Given the description of an element on the screen output the (x, y) to click on. 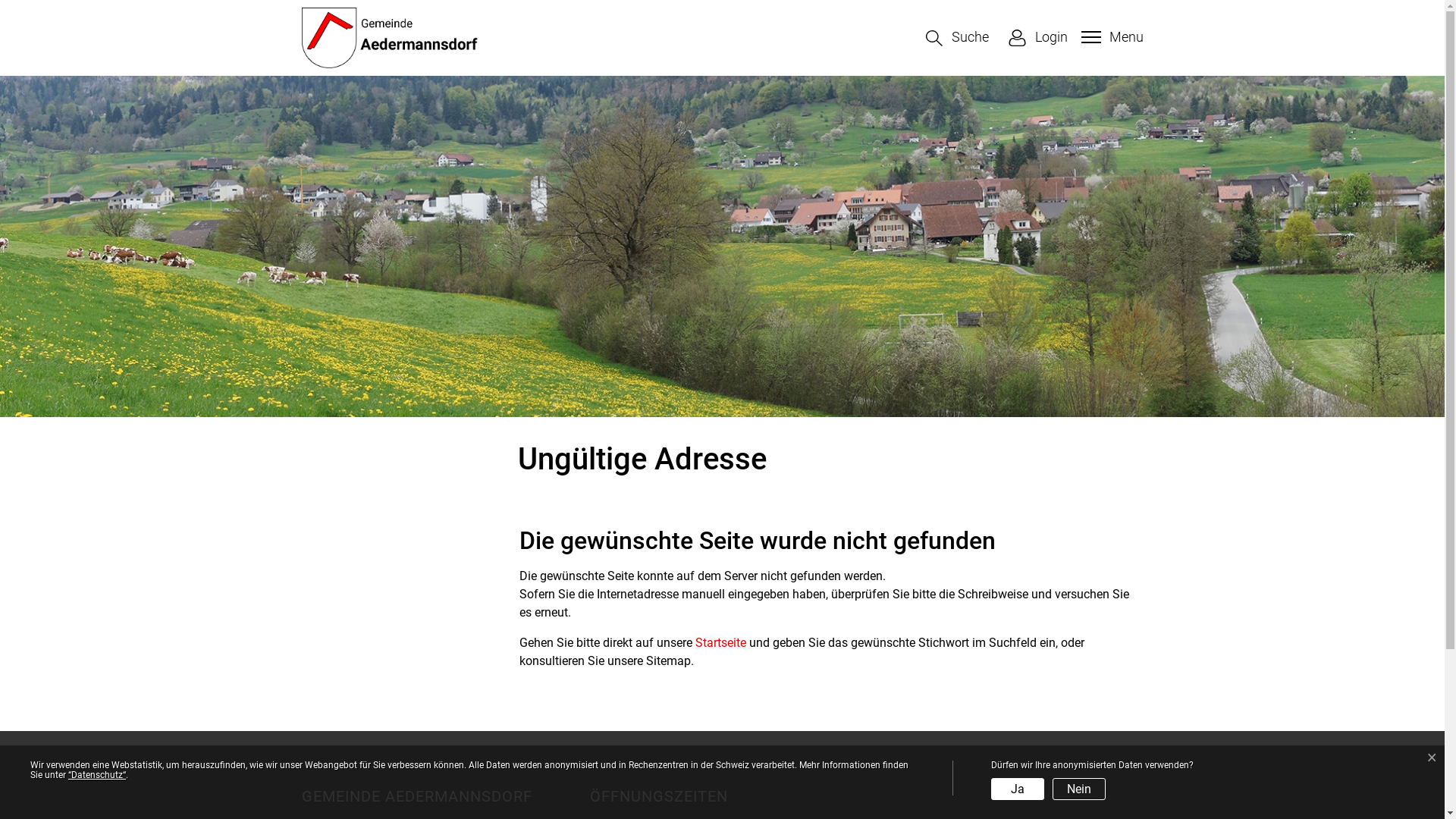
Login Element type: text (1036, 37)
Ja Element type: text (1017, 789)
Menu Element type: text (1109, 36)
Startseite Element type: text (719, 642)
Nein Element type: text (1078, 789)
Aedermannsdorf Element type: text (390, 37)
Suche Element type: text (957, 37)
